Given the description of an element on the screen output the (x, y) to click on. 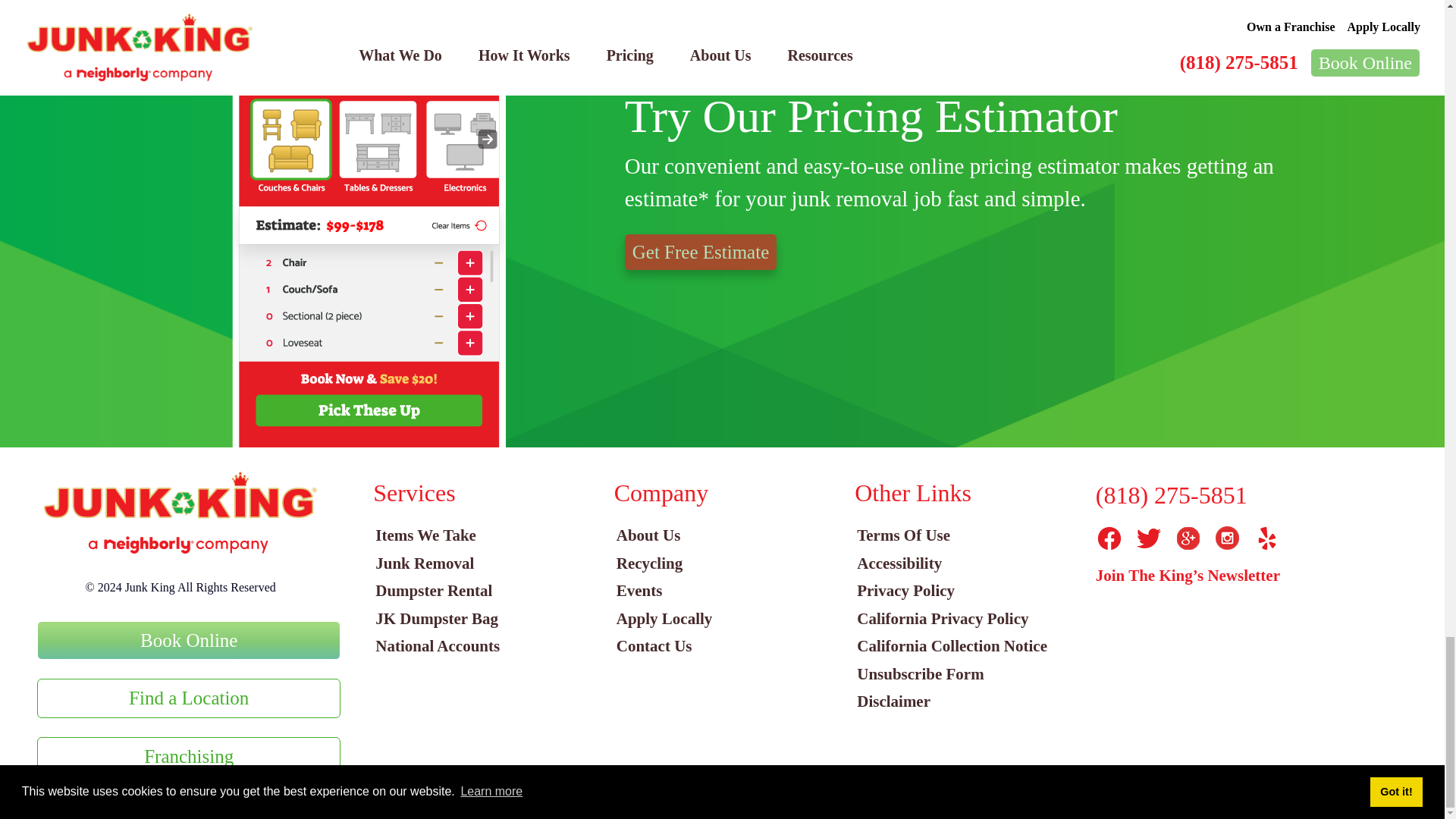
logo (180, 512)
Twitter (1148, 538)
Facebook (1109, 538)
